Given the description of an element on the screen output the (x, y) to click on. 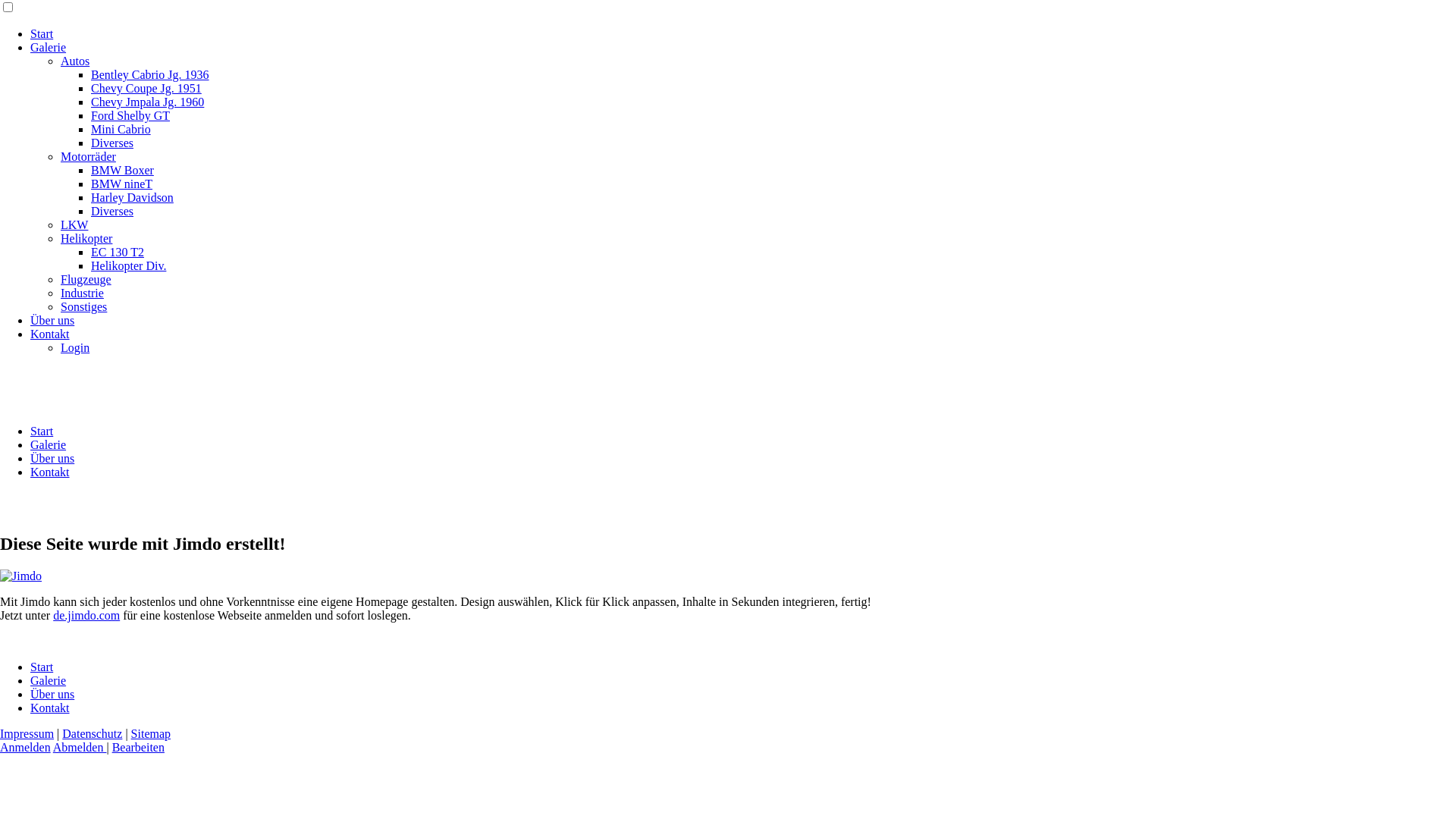
Autos Element type: text (74, 60)
Impressum Element type: text (26, 733)
Datenschutz Element type: text (92, 733)
Login Element type: text (74, 347)
Chevy Jmpala Jg. 1960 Element type: text (147, 101)
Galerie Element type: text (47, 680)
Sitemap Element type: text (150, 733)
Diverses Element type: text (112, 142)
Mini Cabrio Element type: text (120, 128)
Industrie Element type: text (81, 292)
Start Element type: text (41, 33)
Start Element type: text (41, 666)
Helikopter Element type: text (86, 238)
de.jimdo.com Element type: text (86, 614)
Bearbeiten Element type: text (138, 746)
Harley Davidson Element type: text (132, 197)
Helikopter Div. Element type: text (128, 265)
Flugzeuge Element type: text (85, 279)
Diverses Element type: text (112, 210)
EC 130 T2 Element type: text (117, 251)
BMW nineT Element type: text (121, 183)
Sonstiges Element type: text (83, 306)
Anmelden Element type: text (25, 746)
Ford Shelby GT Element type: text (130, 115)
Kontakt Element type: text (49, 333)
Kontakt Element type: text (49, 707)
Abmelden Element type: text (79, 746)
Start Element type: text (41, 430)
LKW Element type: text (73, 224)
Jimdo Element type: hover (20, 576)
Chevy Coupe Jg. 1951 Element type: text (146, 87)
Bentley Cabrio Jg. 1936 Element type: text (150, 74)
BMW Boxer Element type: text (122, 169)
Galerie Element type: text (47, 444)
Galerie Element type: text (47, 46)
Kontakt Element type: text (49, 471)
